Given the description of an element on the screen output the (x, y) to click on. 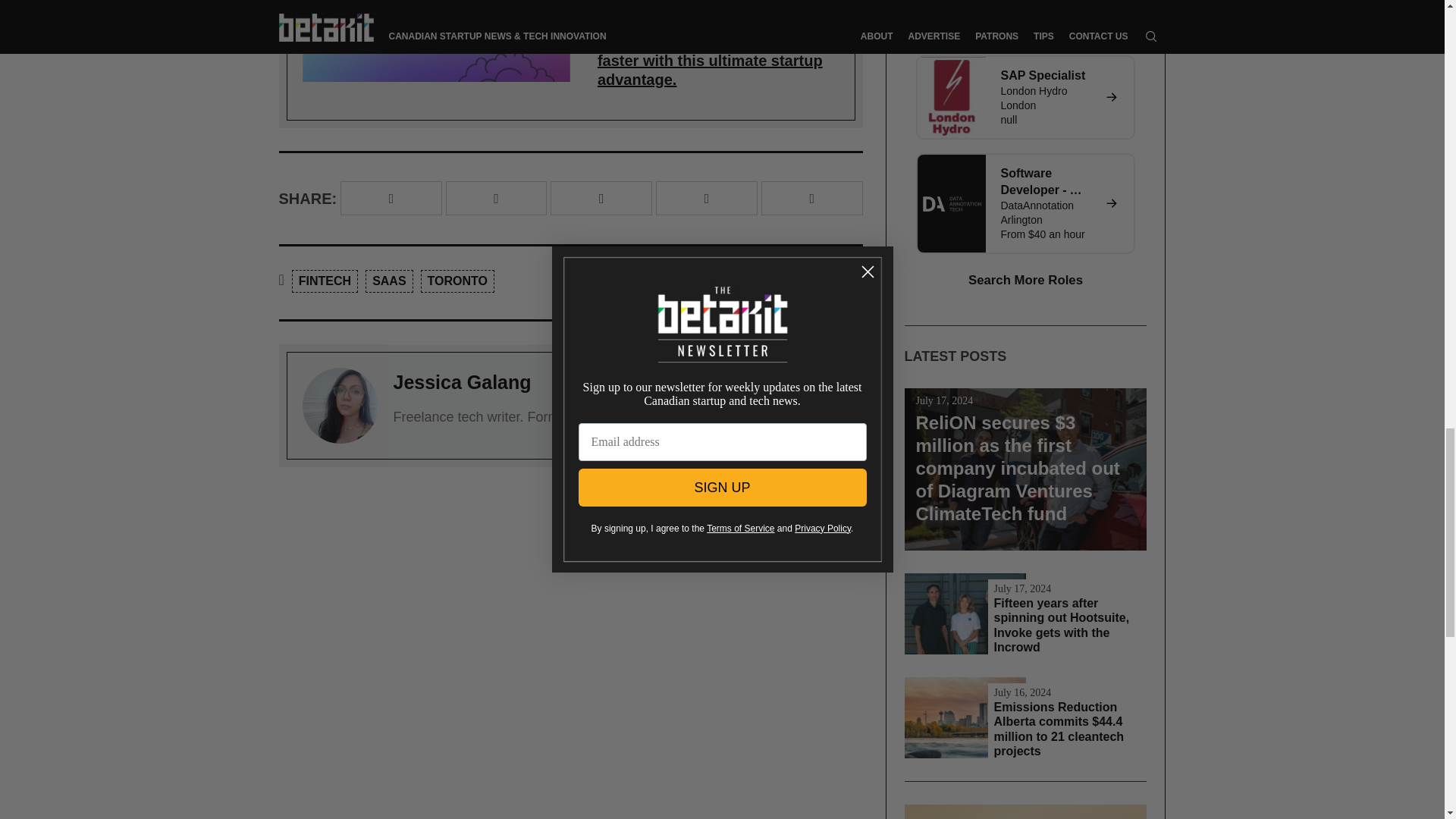
Jessica Galang (462, 382)
